Given the description of an element on the screen output the (x, y) to click on. 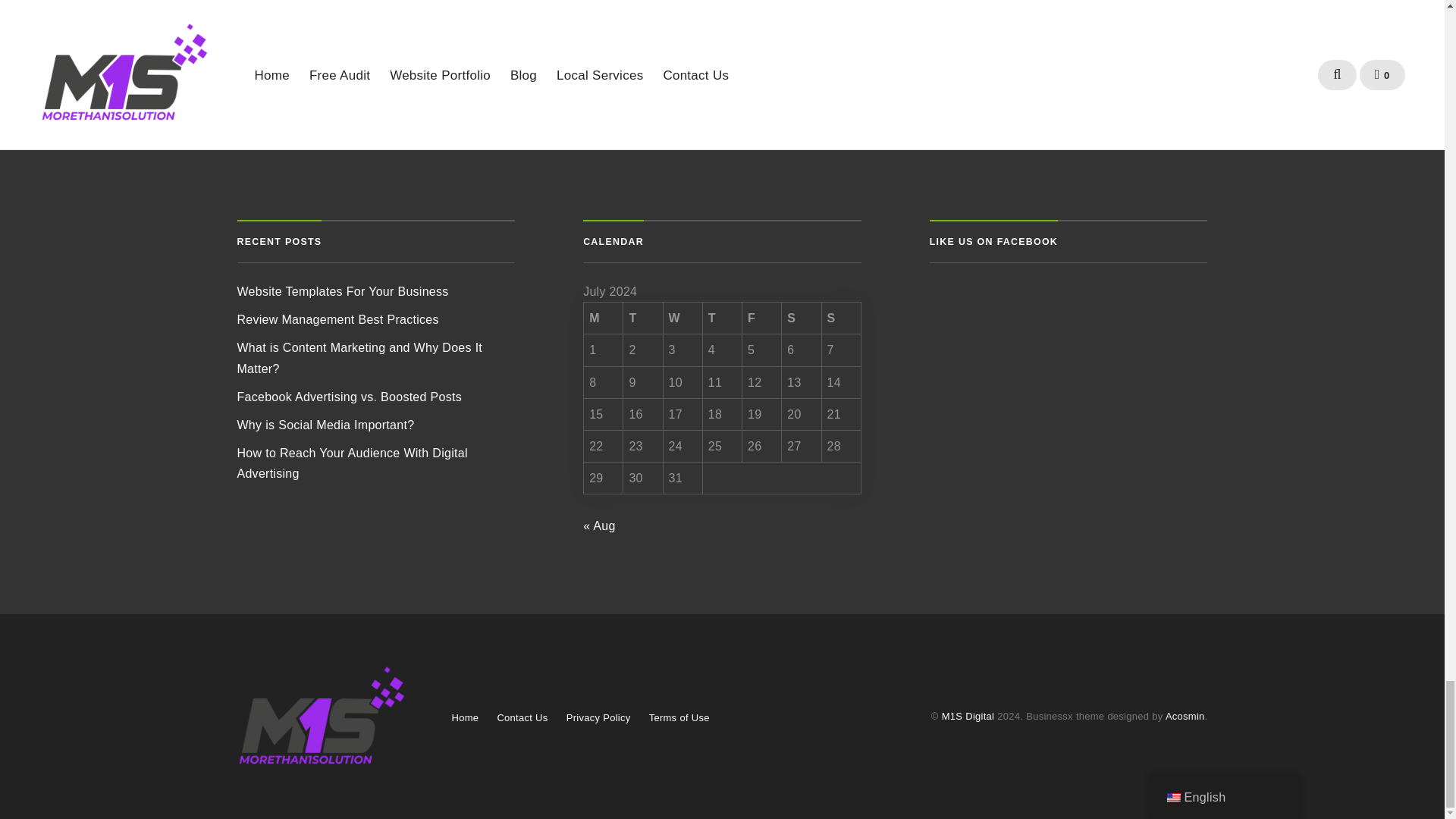
What is Content Marketing and Why Does It Matter? (358, 357)
Facebook Advertising vs. Boosted Posts (348, 396)
M1S Digital (968, 715)
Tuesday (642, 318)
Friday (761, 318)
Thursday (722, 318)
Website Templates For Your Business (341, 291)
Acosmin (1185, 715)
Terms of Use (679, 717)
Why is Social Media Important? (324, 424)
Wednesday (683, 318)
Monday (603, 318)
Saturday (801, 318)
How to Reach Your Audience With Digital Advertising (351, 462)
Home (465, 717)
